Given the description of an element on the screen output the (x, y) to click on. 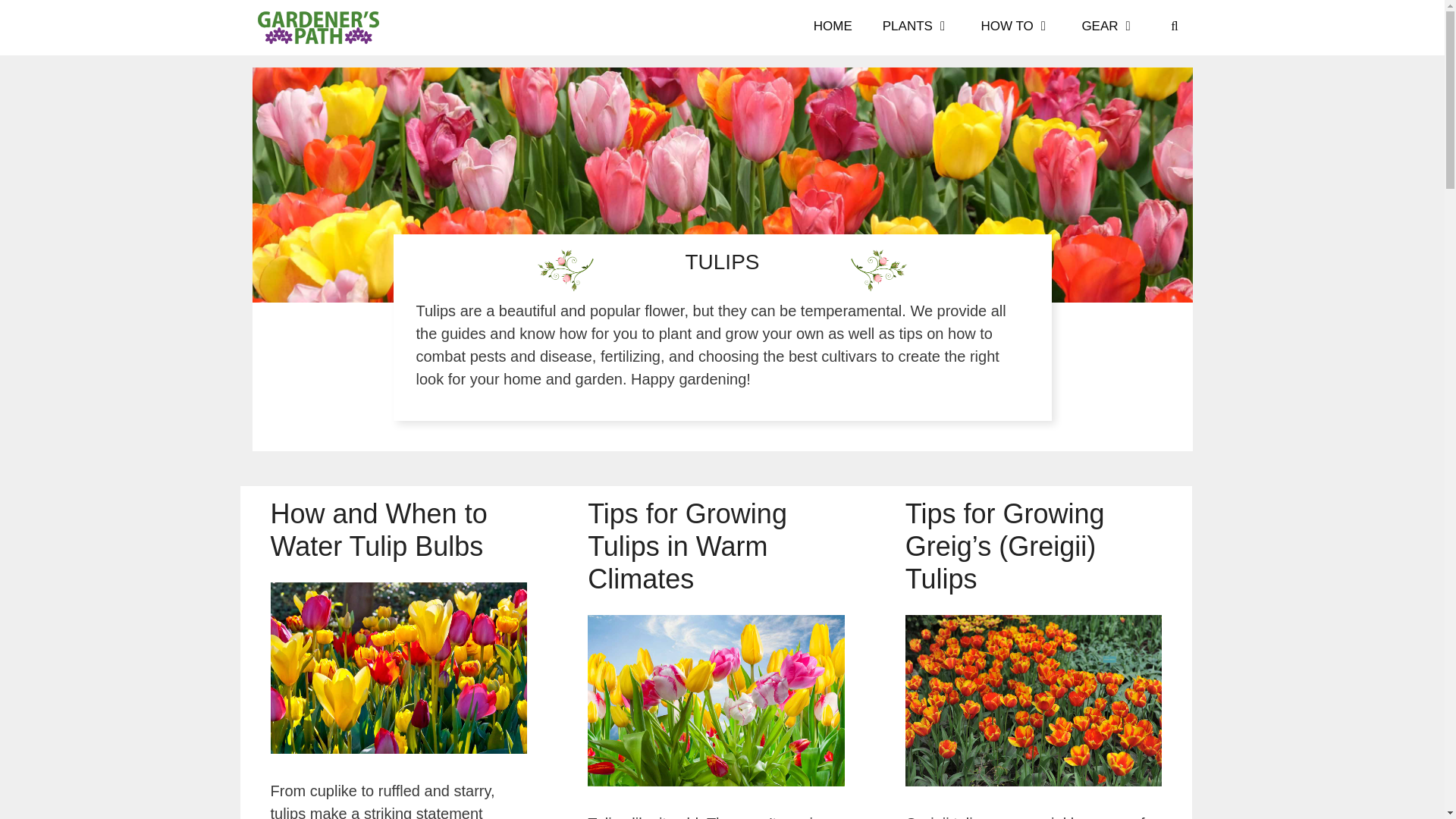
GEAR (1108, 26)
PLANTS (916, 26)
HOME (832, 26)
HOW TO (1016, 26)
